Given the description of an element on the screen output the (x, y) to click on. 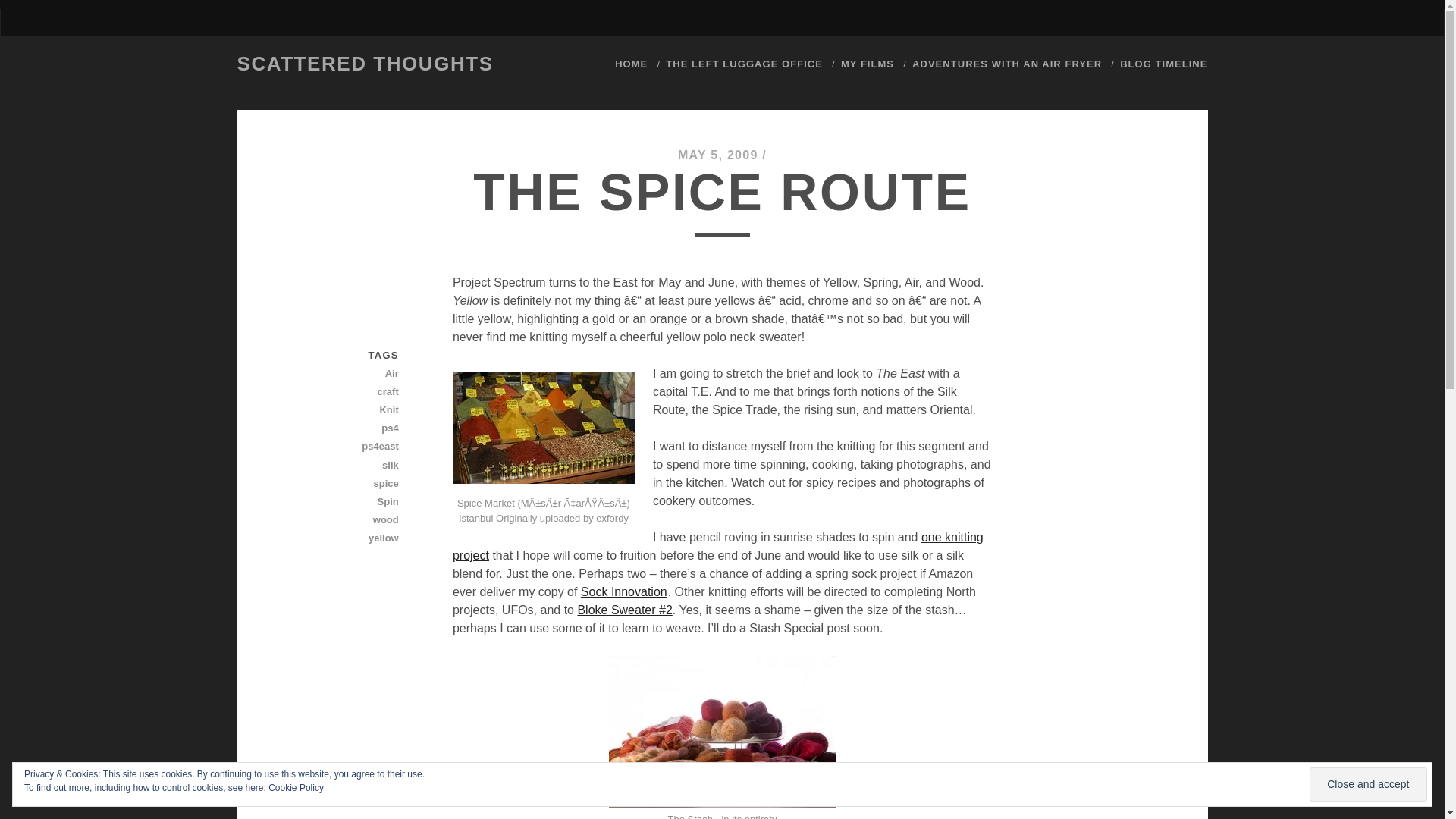
wood (344, 520)
Close and accept (1367, 784)
HOME (630, 64)
SCATTERED THOUGHTS (364, 63)
ps4east (344, 446)
spice (344, 484)
Duxbury Point at Ravelry (623, 609)
ps4-east-stash-071 (721, 731)
silk (344, 465)
MY FILMS (867, 64)
